Given the description of an element on the screen output the (x, y) to click on. 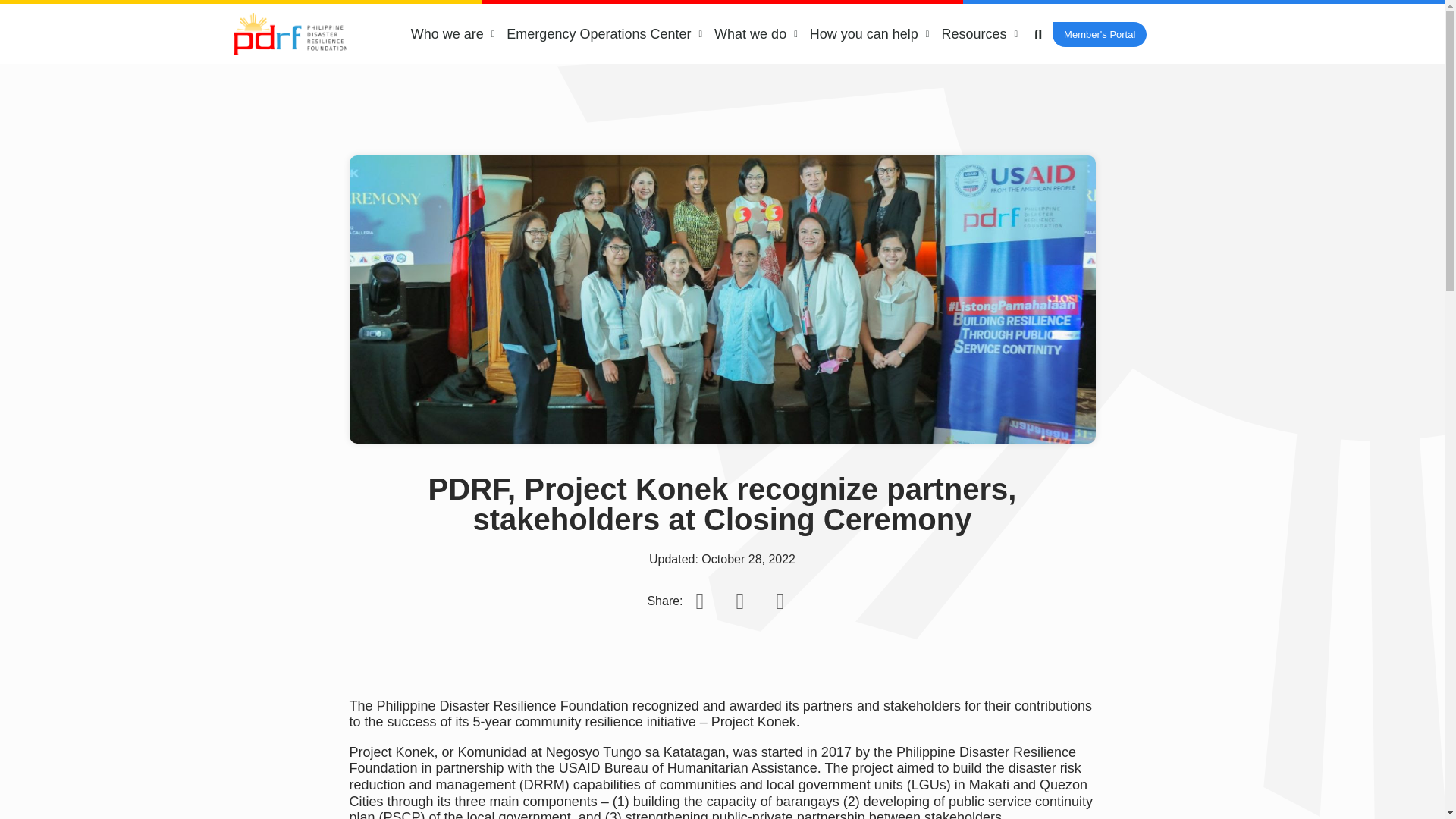
Who we are (452, 3)
What we do (755, 24)
How you can help (869, 27)
Emergency Operations Center (603, 18)
Resources (978, 28)
